Given the description of an element on the screen output the (x, y) to click on. 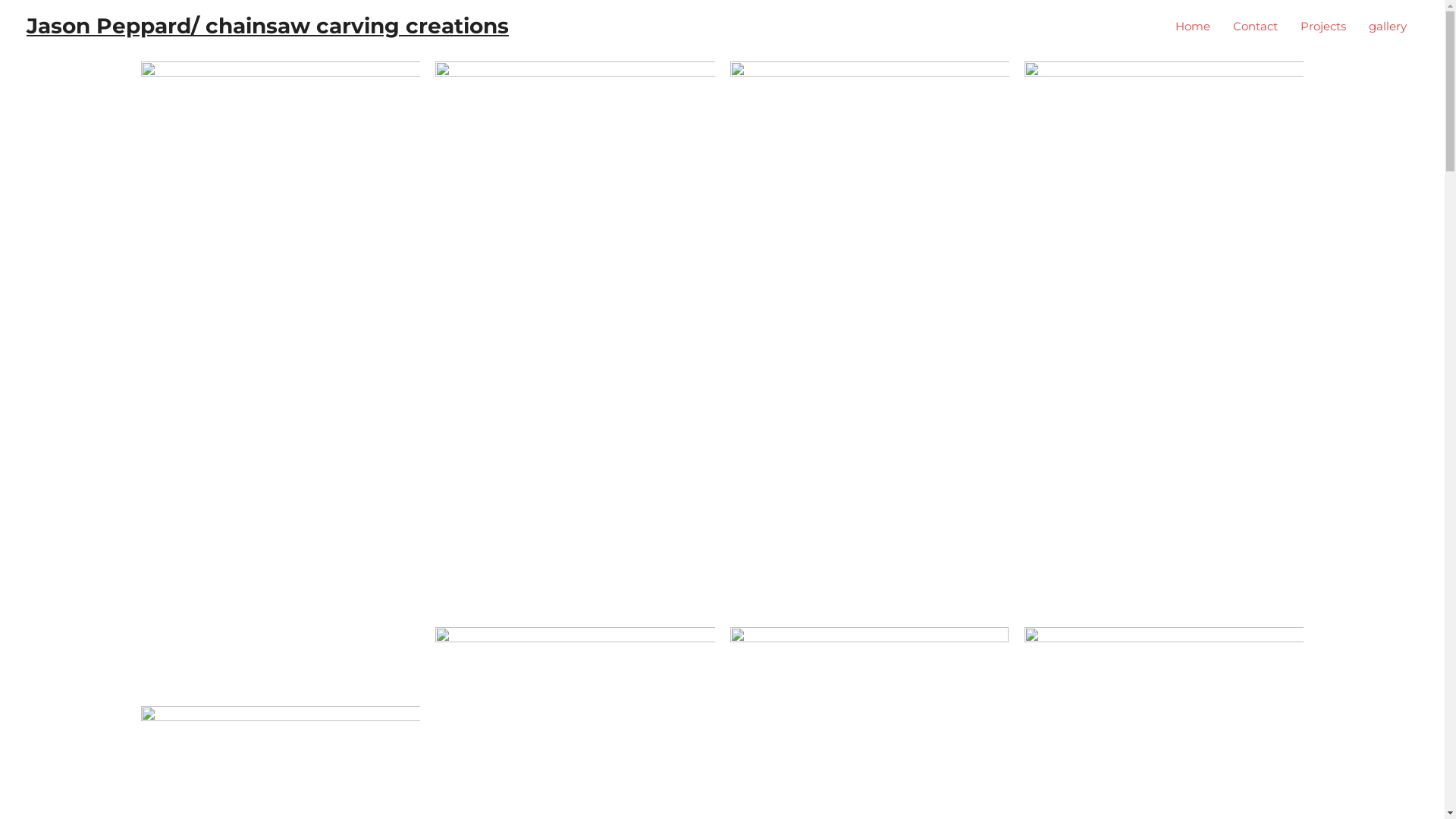
Projects Element type: text (1323, 26)
gallery Element type: text (1387, 26)
Jason Peppard/ chainsaw carving creations Element type: text (267, 25)
Contact Element type: text (1255, 26)
Home Element type: text (1192, 26)
